Given the description of an element on the screen output the (x, y) to click on. 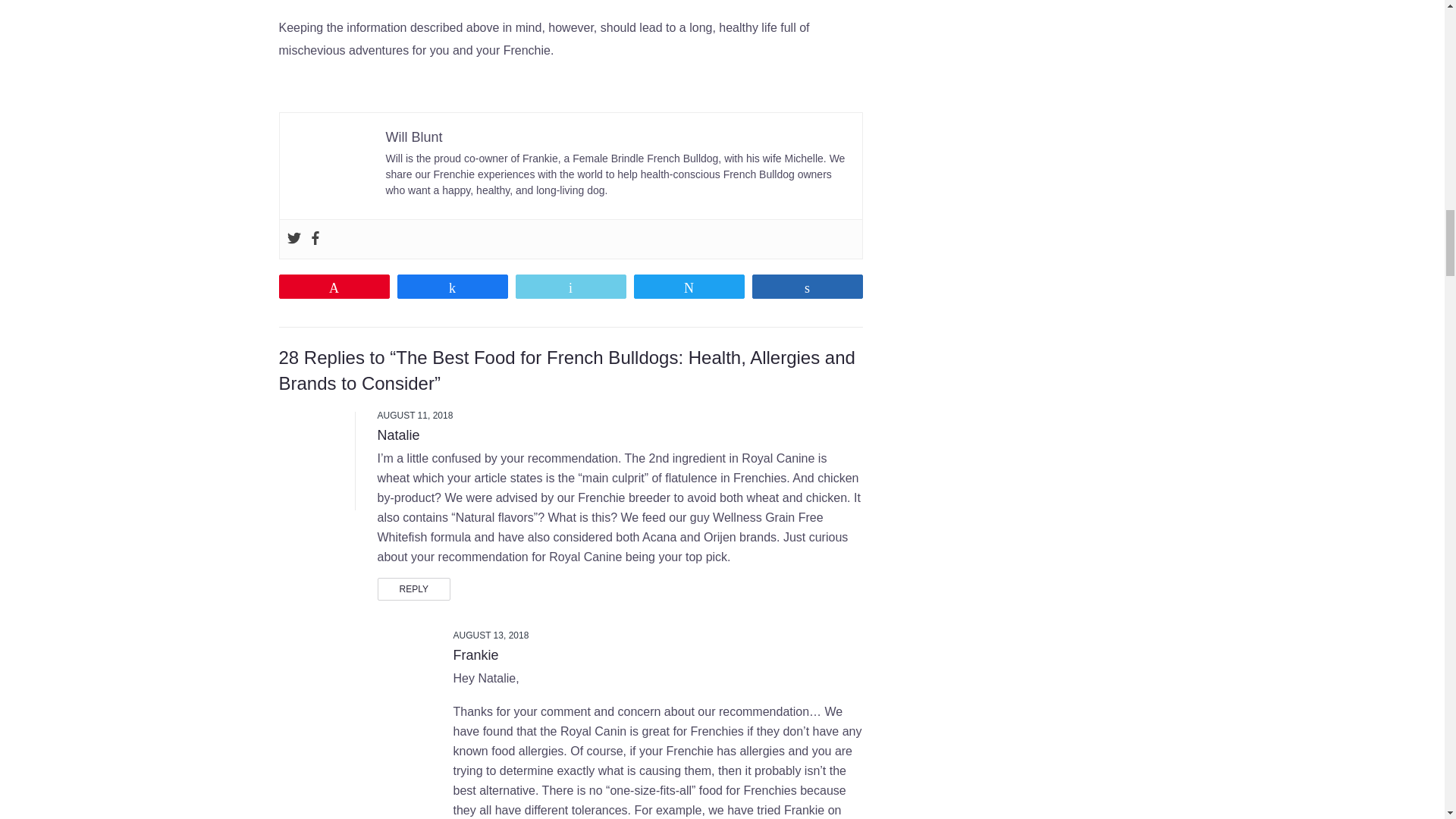
Will Blunt (413, 136)
